Given the description of an element on the screen output the (x, y) to click on. 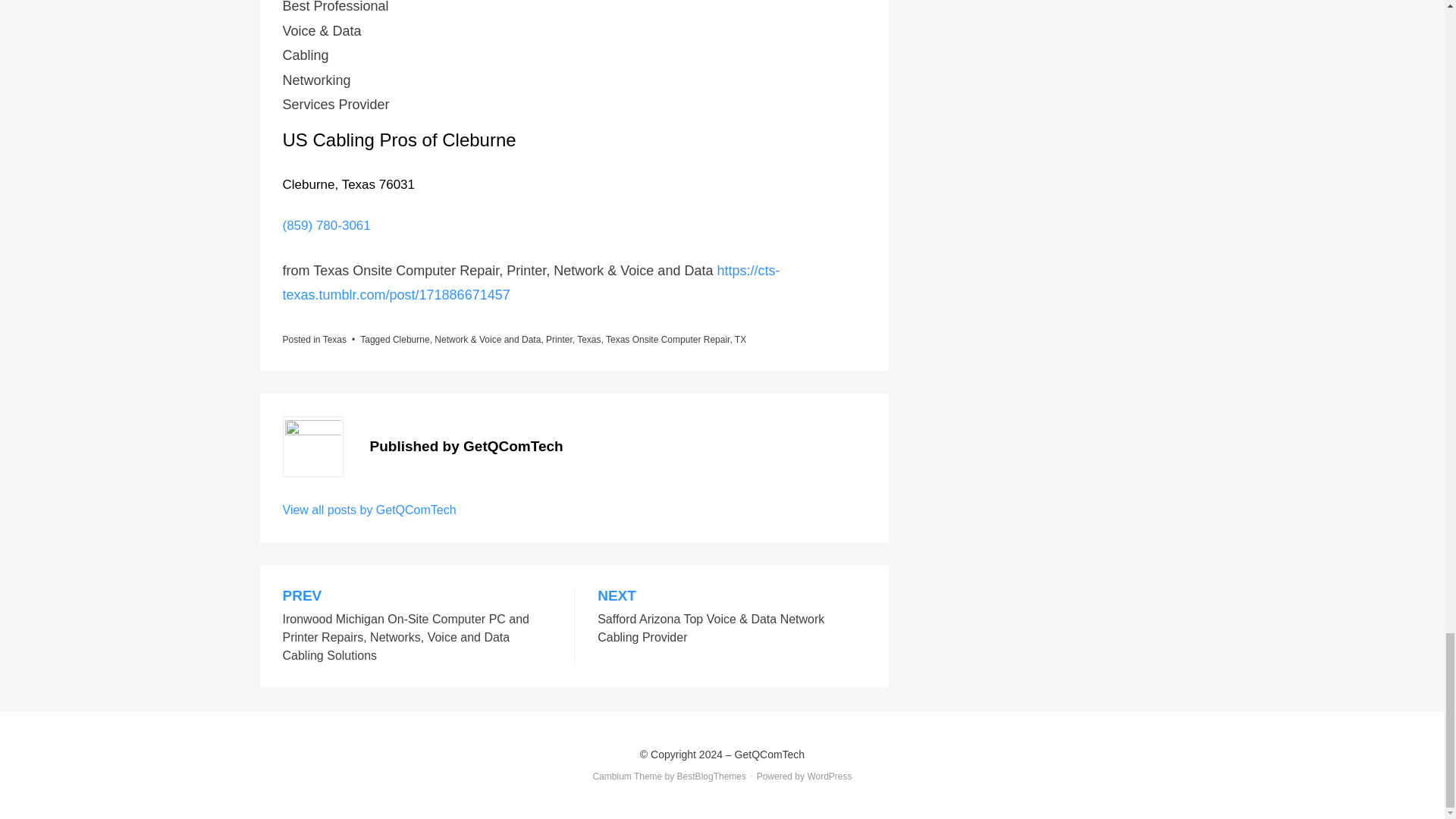
Cleburne (411, 339)
BestBlogThemes (711, 776)
WordPress (828, 776)
Texas Onsite Computer Repair (667, 339)
BestBlogThemes (711, 776)
Printer (559, 339)
WordPress (828, 776)
View all posts by GetQComTech (368, 509)
GetQComTech (770, 754)
